Given the description of an element on the screen output the (x, y) to click on. 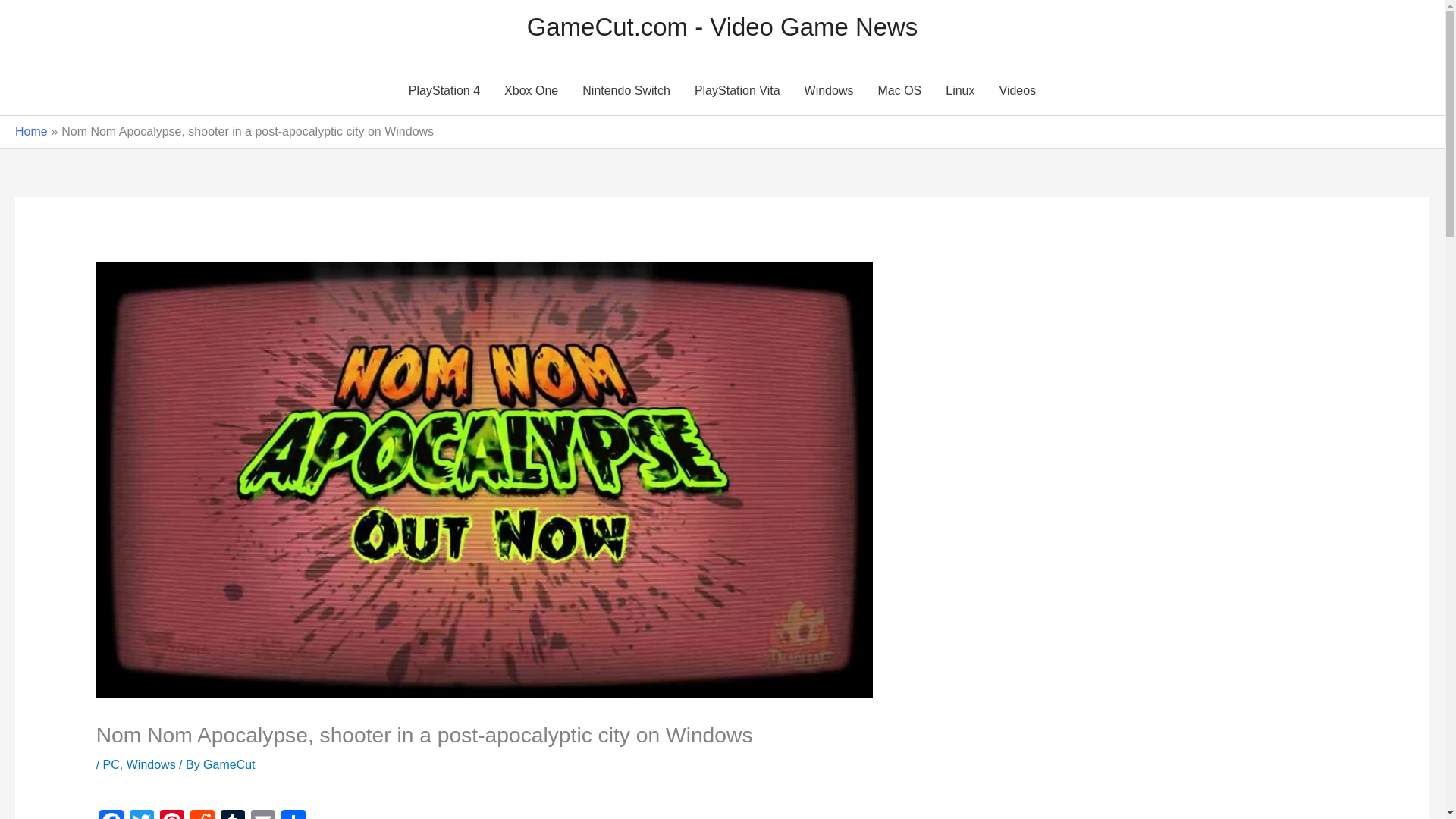
Pinterest (172, 814)
GameCut (228, 764)
Tumblr (231, 814)
Pinterest (172, 814)
PC (111, 764)
Mac OS (898, 90)
PlayStation 4 (444, 90)
Twitter (141, 814)
Xbox One (531, 90)
Facebook (111, 814)
